Given the description of an element on the screen output the (x, y) to click on. 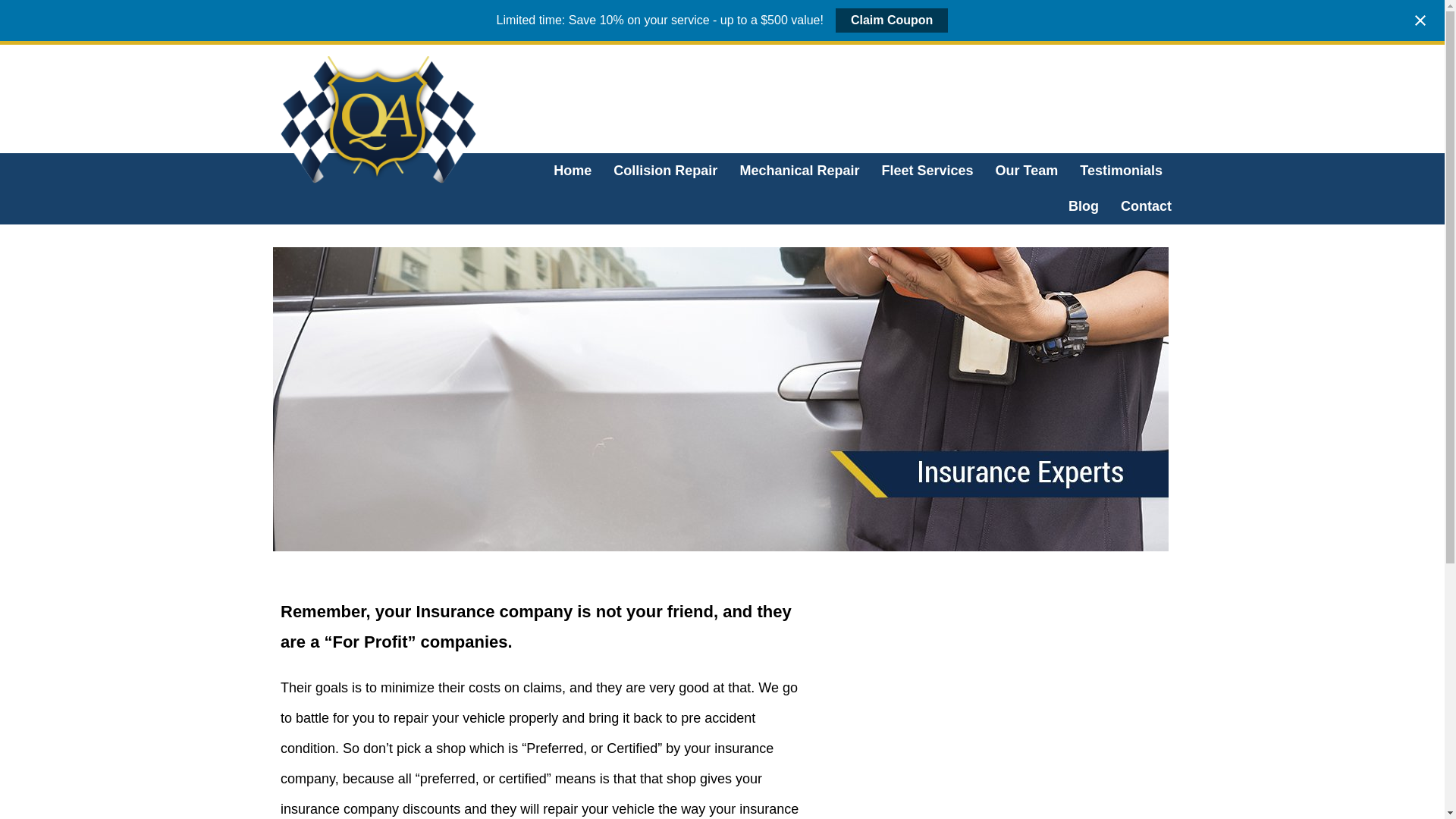
Home (571, 171)
Contact (1142, 206)
Testimonials (1121, 171)
Collision Repair (665, 171)
Our Team (1027, 171)
Blog (1083, 206)
Claim Coupon (891, 20)
Mechanical Repair (798, 171)
Fleet Services (926, 171)
